Given the description of an element on the screen output the (x, y) to click on. 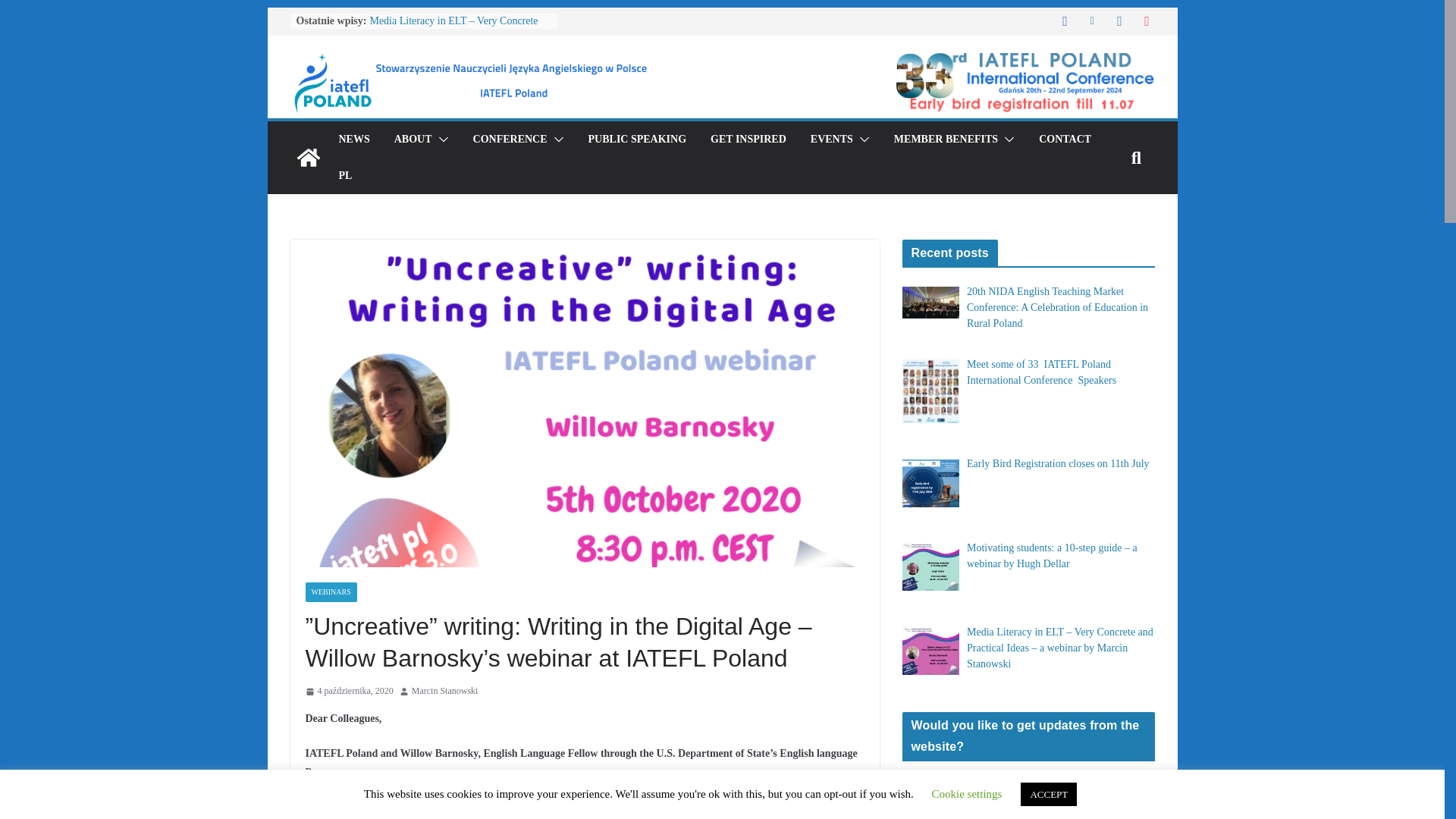
MEMBER BENEFITS (945, 138)
GET INSPIRED (748, 138)
6:54 pm (348, 691)
NEWS (353, 138)
PUBLIC SPEAKING (637, 138)
IATEFL Poland (307, 157)
Marcin Stanowski (445, 691)
CONFERENCE (510, 138)
CONTACT (1064, 138)
EVENTS (831, 138)
ABOUT (413, 138)
